Given the description of an element on the screen output the (x, y) to click on. 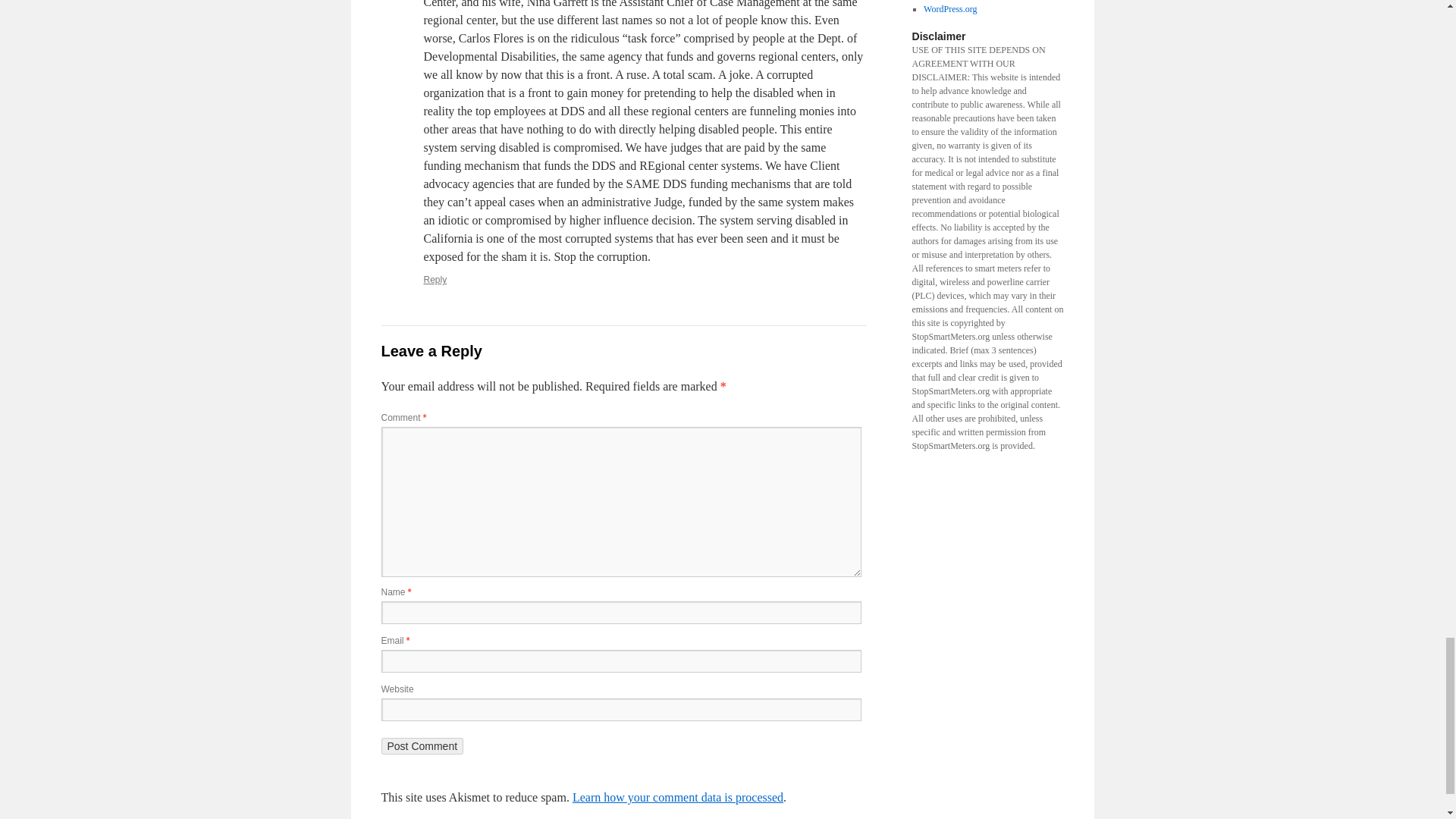
Post Comment (421, 745)
